Given the description of an element on the screen output the (x, y) to click on. 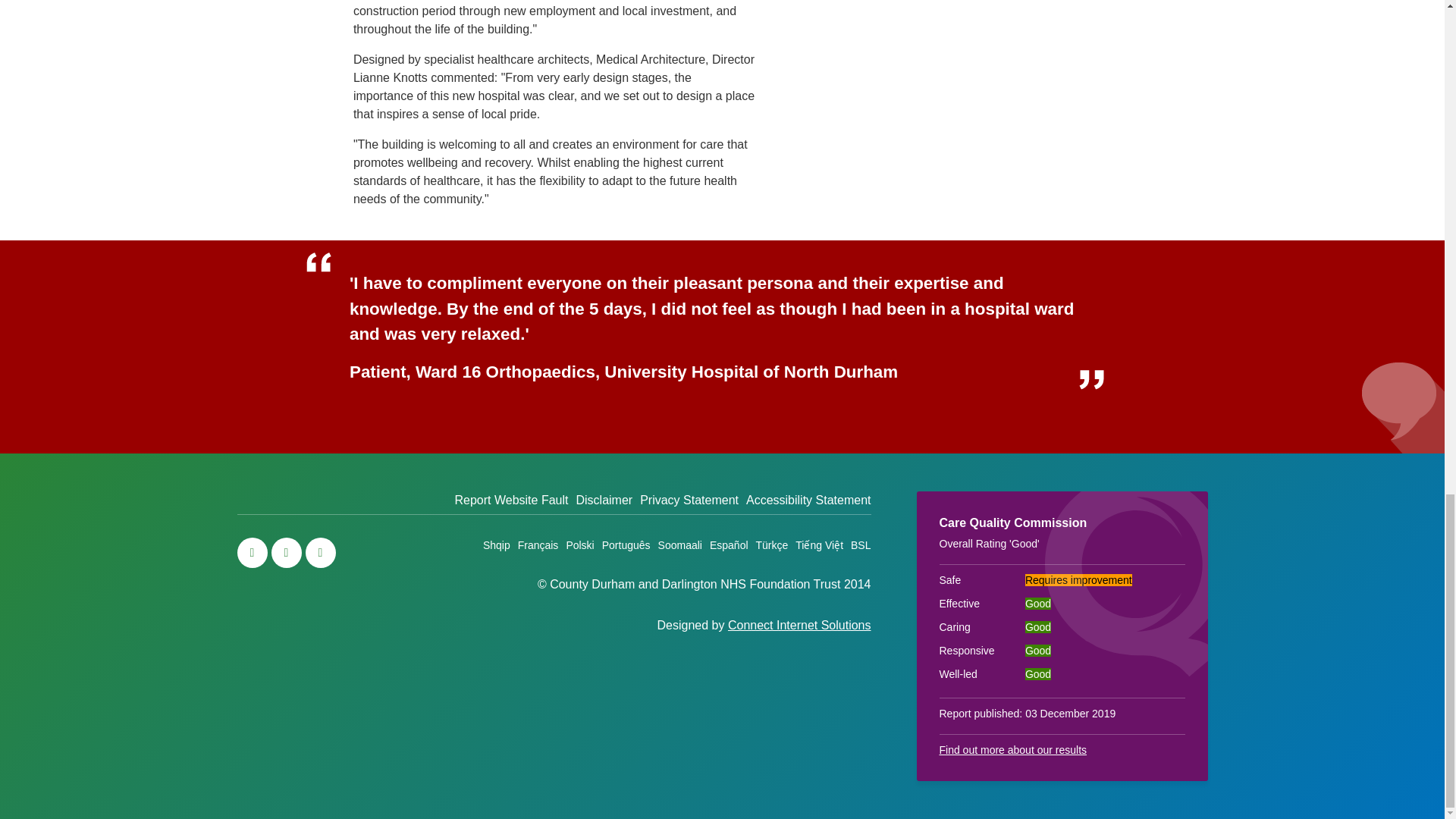
Polski (580, 545)
Accessibility Statement (807, 500)
Report Website Fault (510, 500)
Link to Accessibility Statement (807, 500)
Link to Disclaimer (603, 500)
Soomaali (679, 545)
Disclaimer (603, 500)
Link to Privacy Statement (689, 500)
Connect Internet Solutions (799, 625)
BSL (860, 545)
Youtube (319, 552)
Shqip (497, 545)
Facebook (285, 552)
Find out more about our results (1012, 749)
Twitter (250, 552)
